Given the description of an element on the screen output the (x, y) to click on. 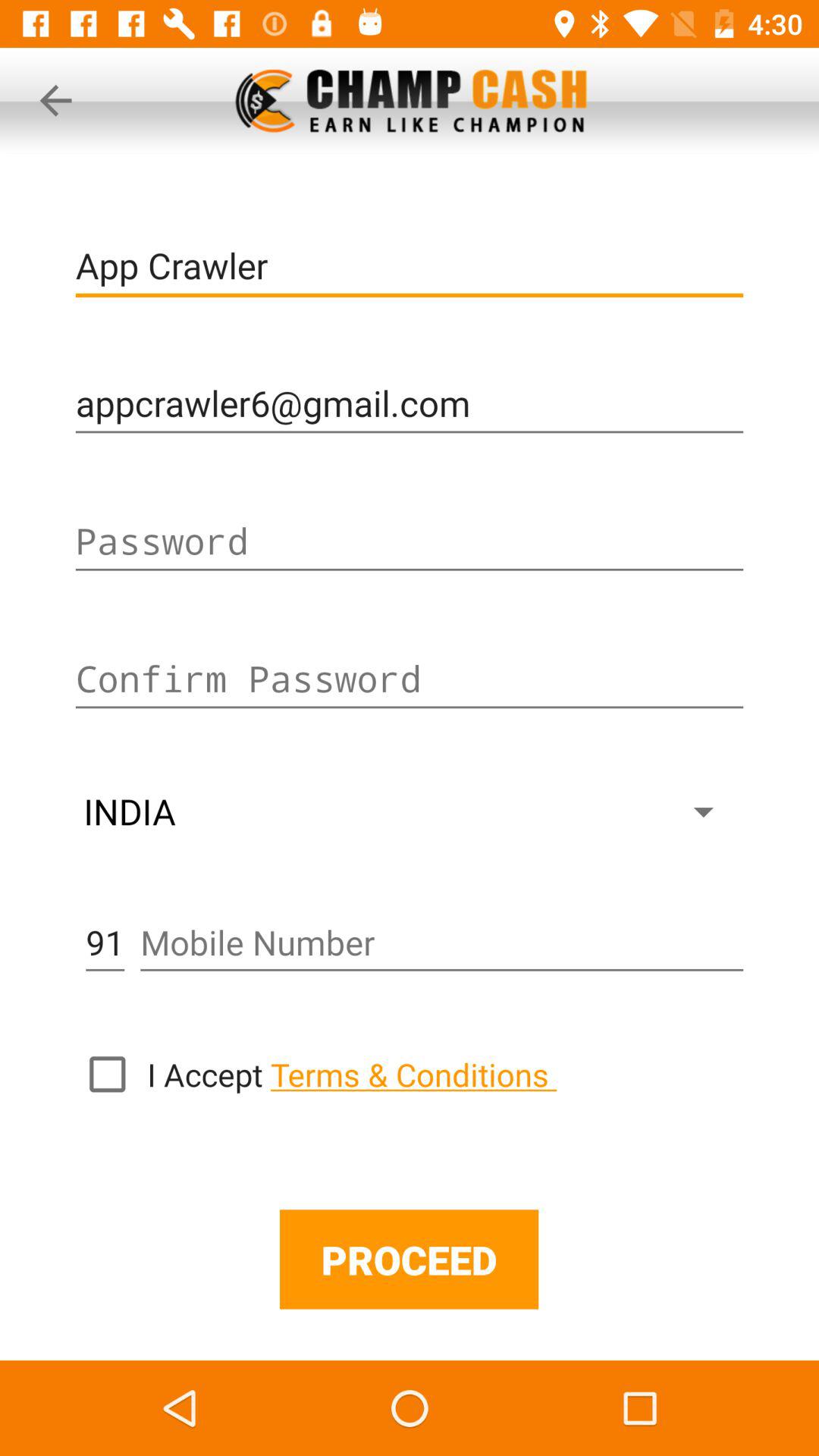
password (409, 541)
